Given the description of an element on the screen output the (x, y) to click on. 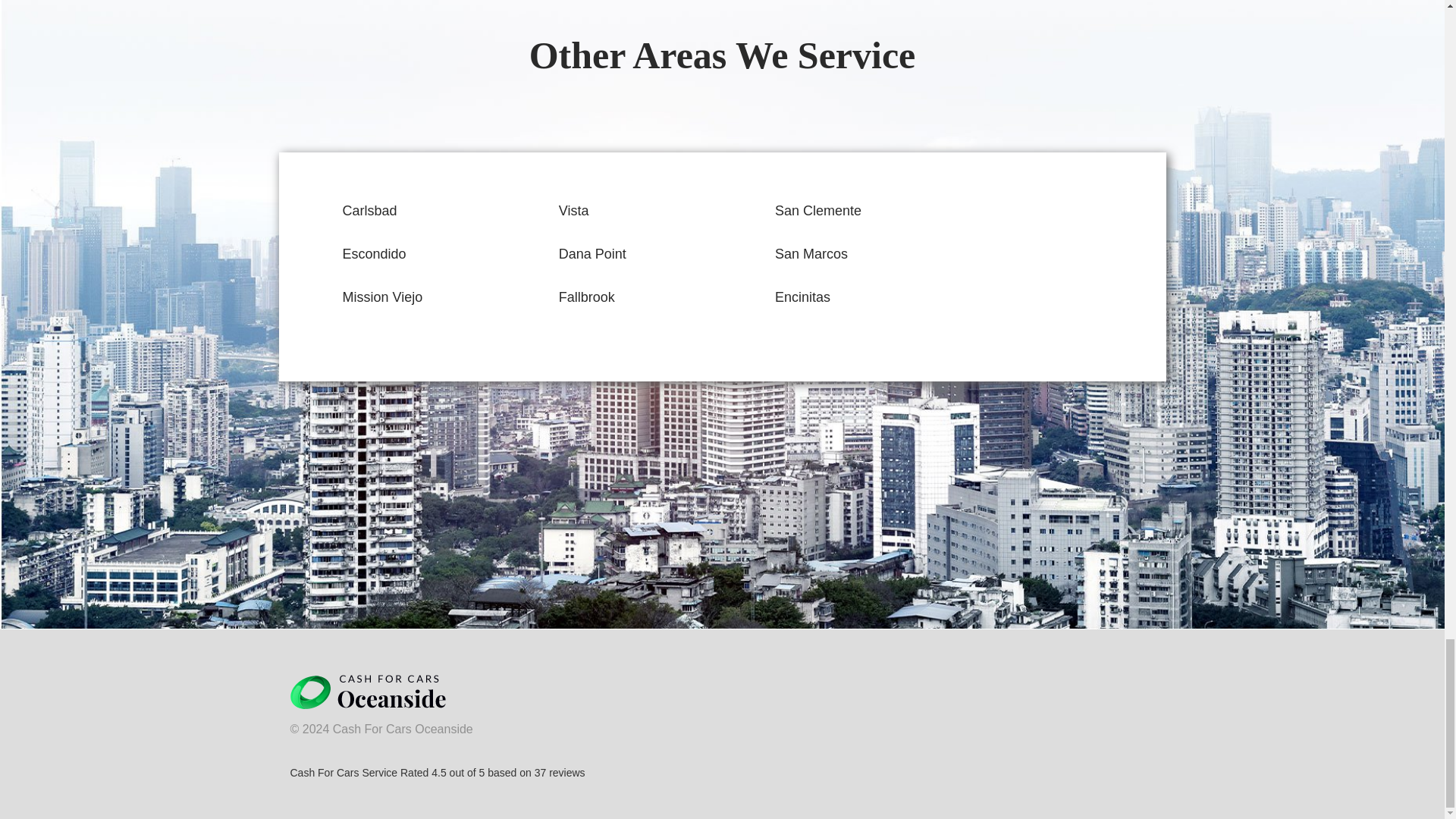
Fallbrook (586, 296)
Escondido (374, 253)
Dana Point (592, 253)
San Marcos (810, 253)
Carlsbad (369, 210)
Vista (574, 210)
Mission Viejo (382, 296)
San Clemente (817, 210)
Encinitas (801, 296)
